Given the description of an element on the screen output the (x, y) to click on. 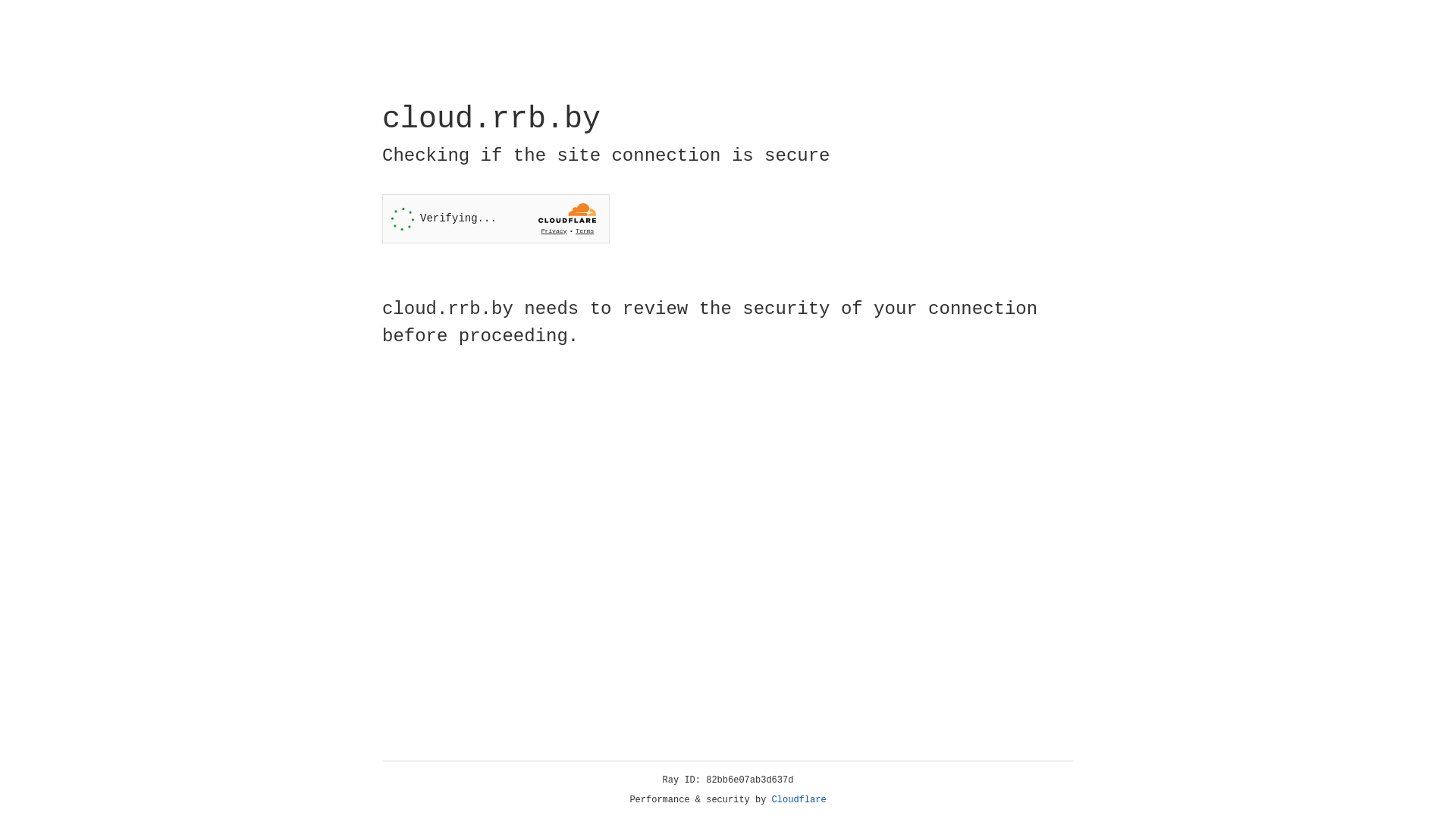
Cloudflare Element type: text (798, 799)
